Given the description of an element on the screen output the (x, y) to click on. 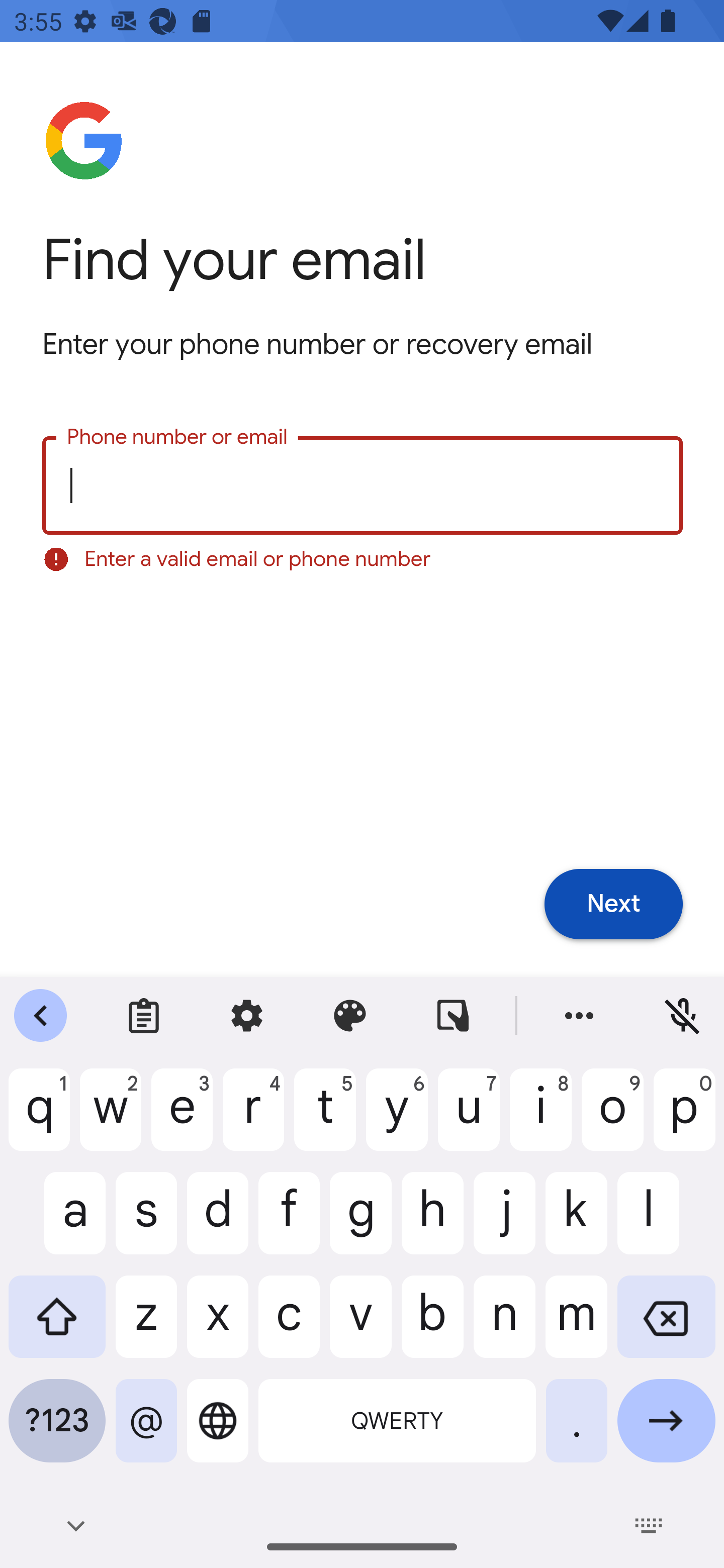
Next (613, 904)
